Given the description of an element on the screen output the (x, y) to click on. 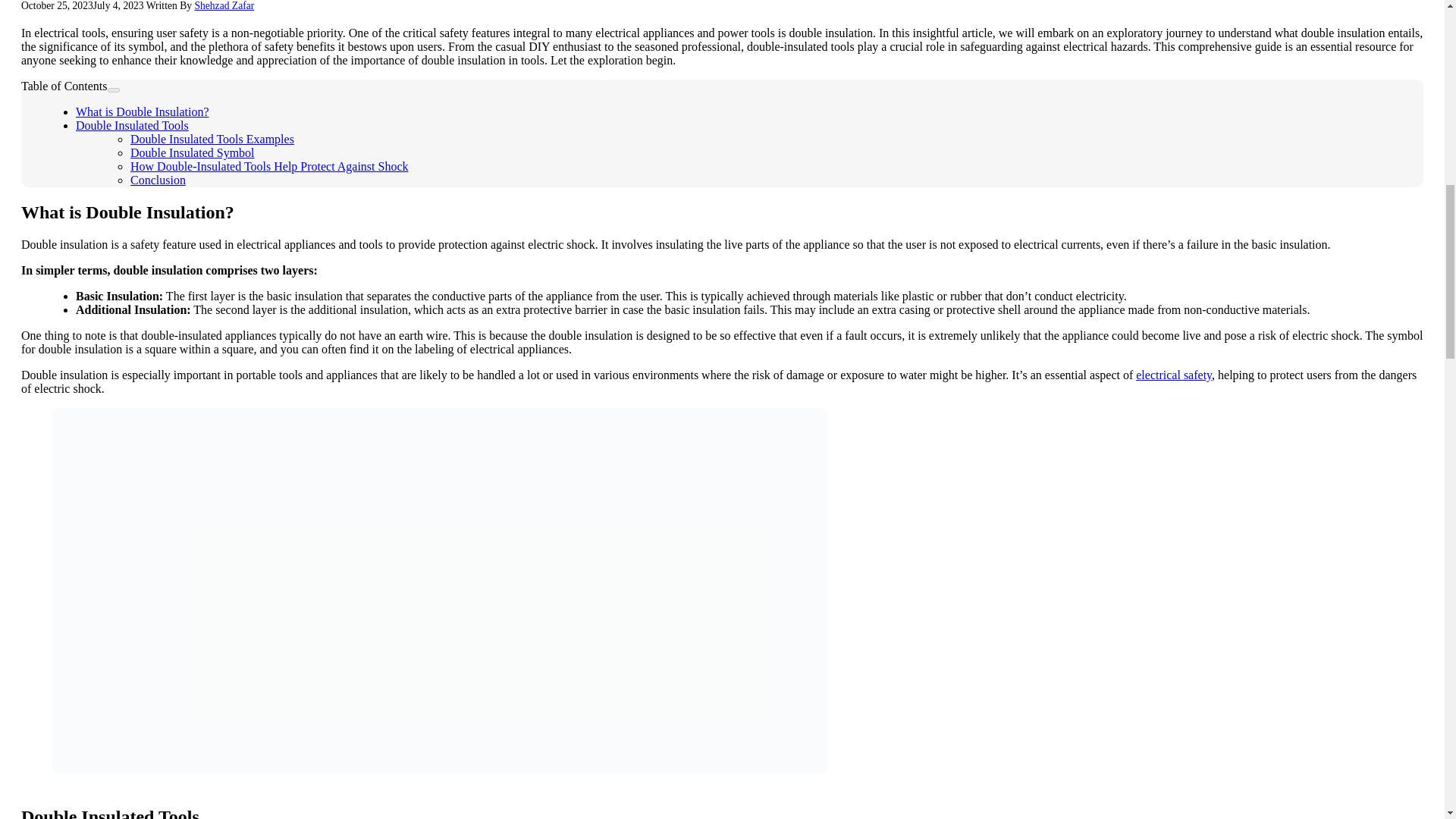
Shehzad Zafar (223, 5)
What is Double Insulation? (142, 111)
View all posts by Shehzad Zafar (223, 5)
Conclusion (158, 179)
How Double-Insulated Tools Help Protect Against Shock (270, 165)
Double Insulated Tools Examples (212, 138)
Double Insulated Symbol (192, 152)
electrical safety (1173, 374)
Double Insulated Tools (132, 124)
